Given the description of an element on the screen output the (x, y) to click on. 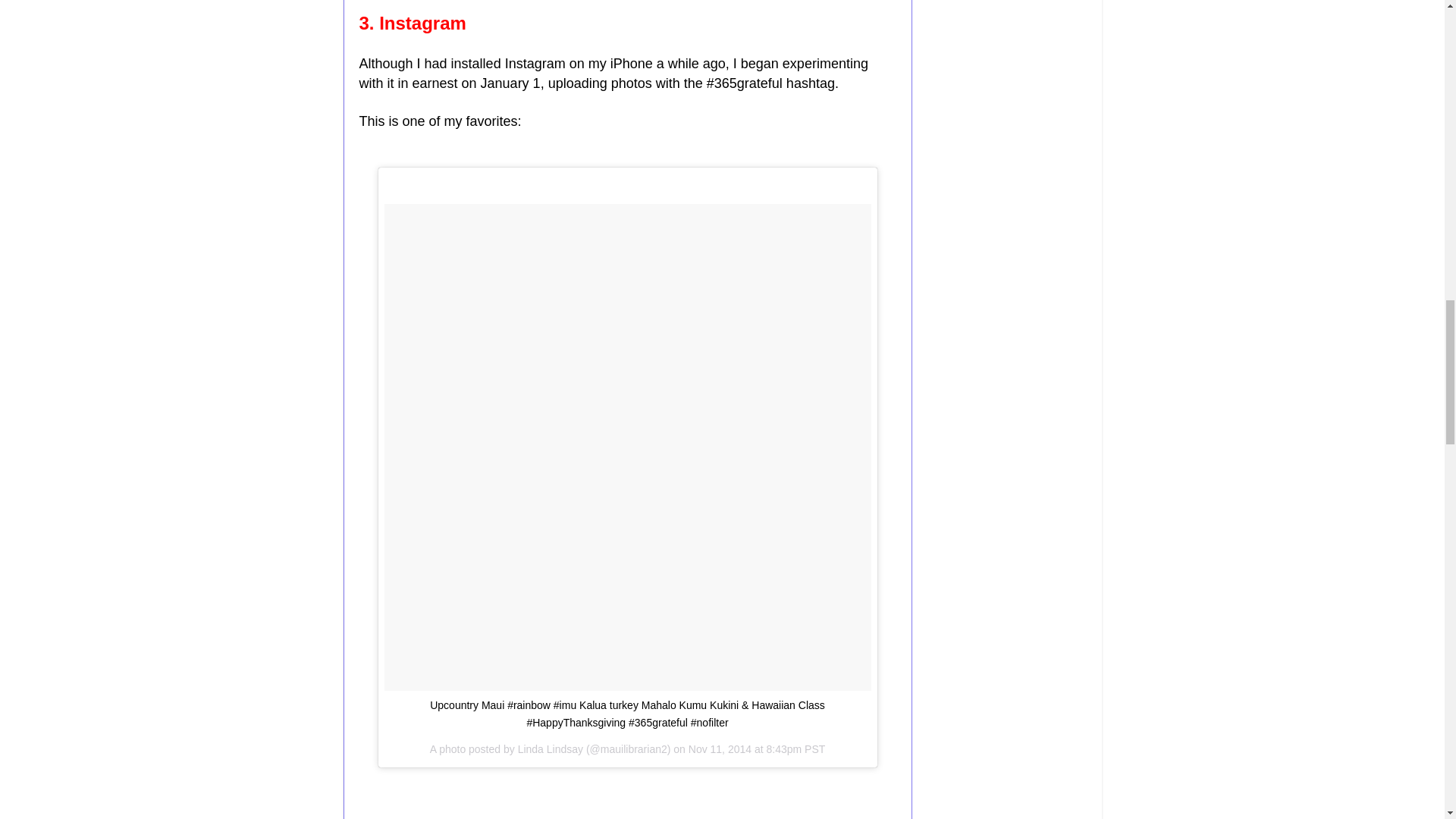
Instagram (421, 23)
